Given the description of an element on the screen output the (x, y) to click on. 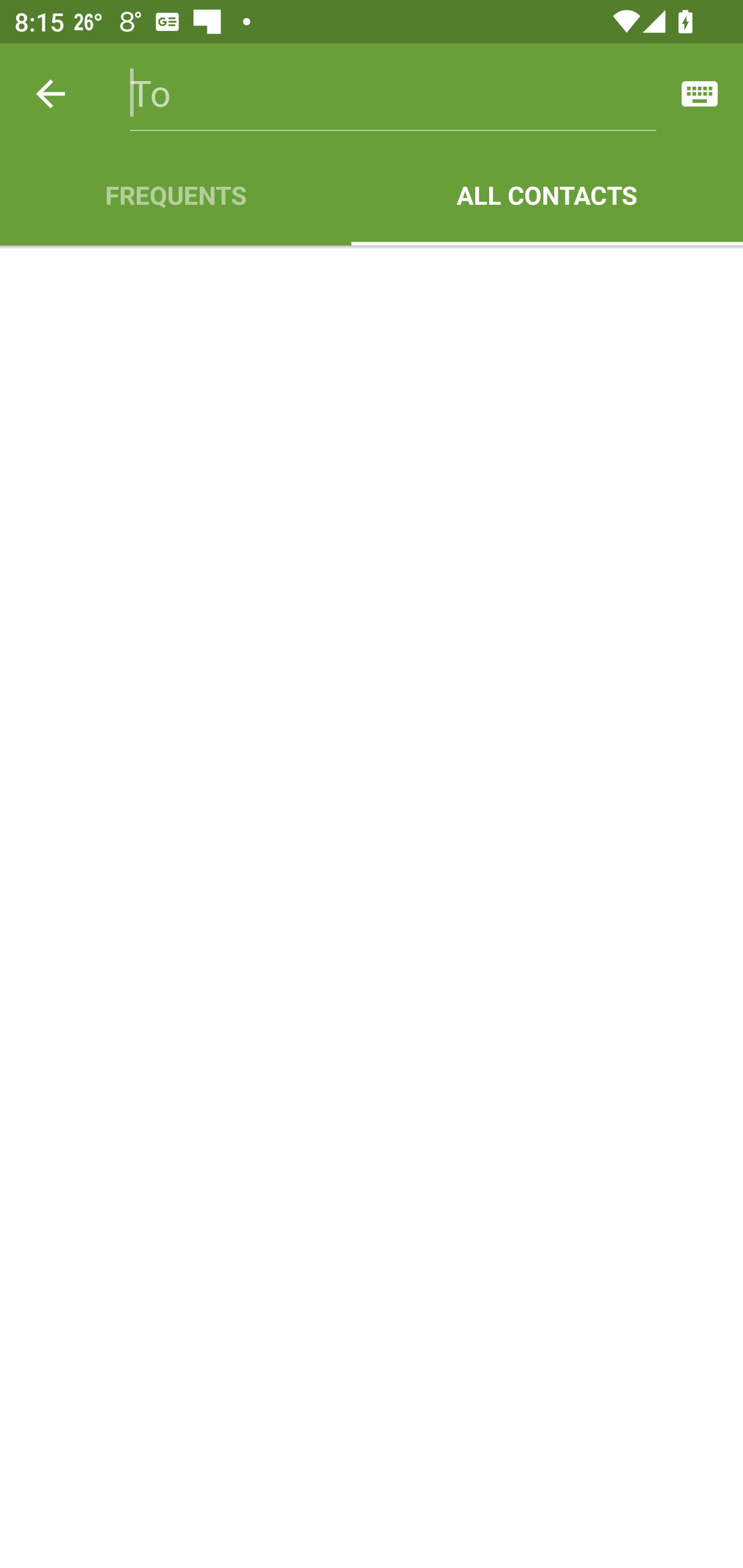
Back (50, 93)
Switch between entering text and numbers (699, 93)
To (393, 93)
FREQUENTS (175, 195)
ALL CONTACTS (547, 195)
